Given the description of an element on the screen output the (x, y) to click on. 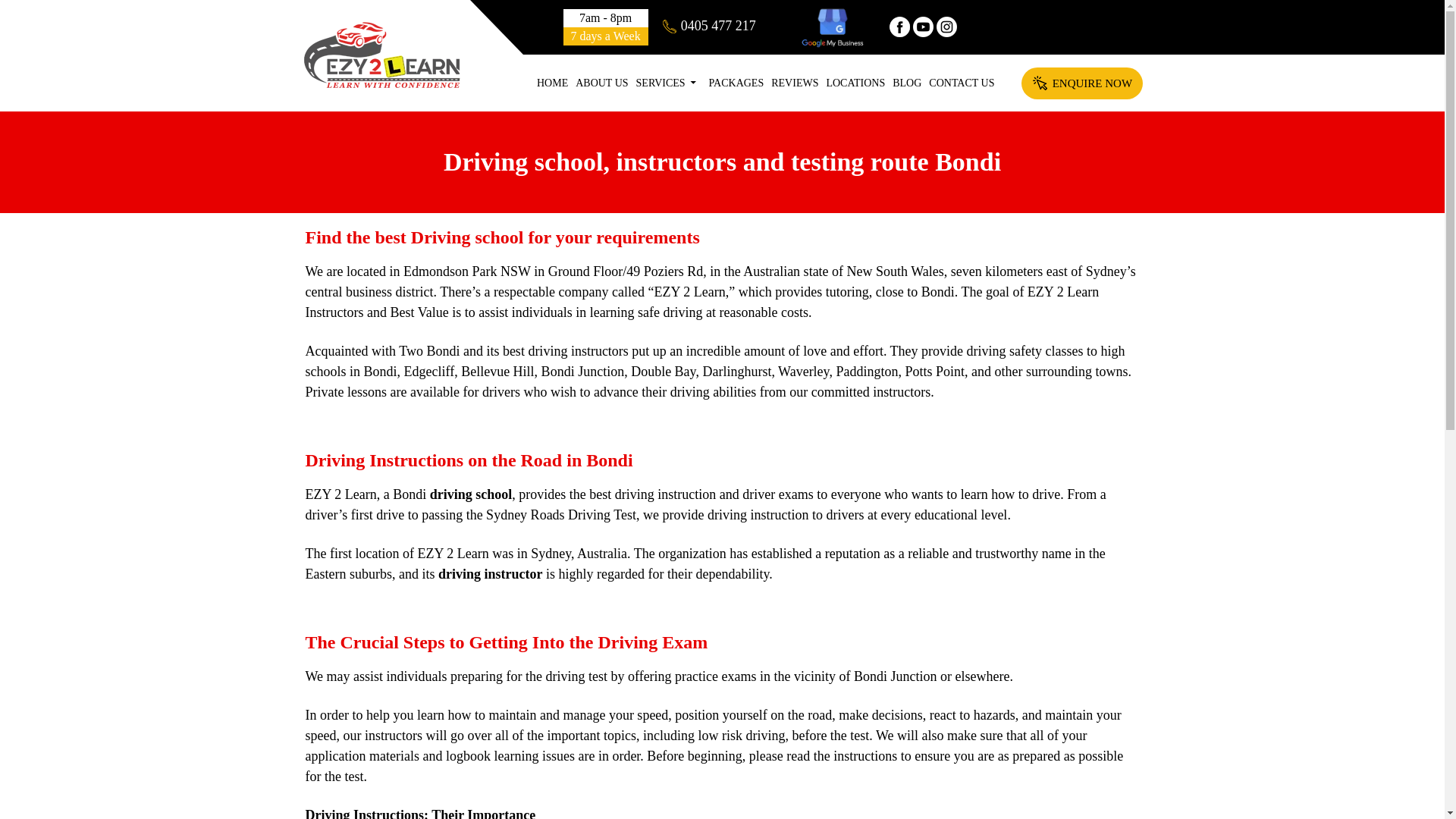
CONTACT US (960, 82)
PACKAGES (736, 82)
0405 477 217 (708, 25)
REVIEWS (794, 82)
LOCATIONS (855, 82)
Google my business (831, 26)
ENQUIRE NOW (1082, 83)
ABOUT US (601, 82)
SERVICES (667, 82)
